Given the description of an element on the screen output the (x, y) to click on. 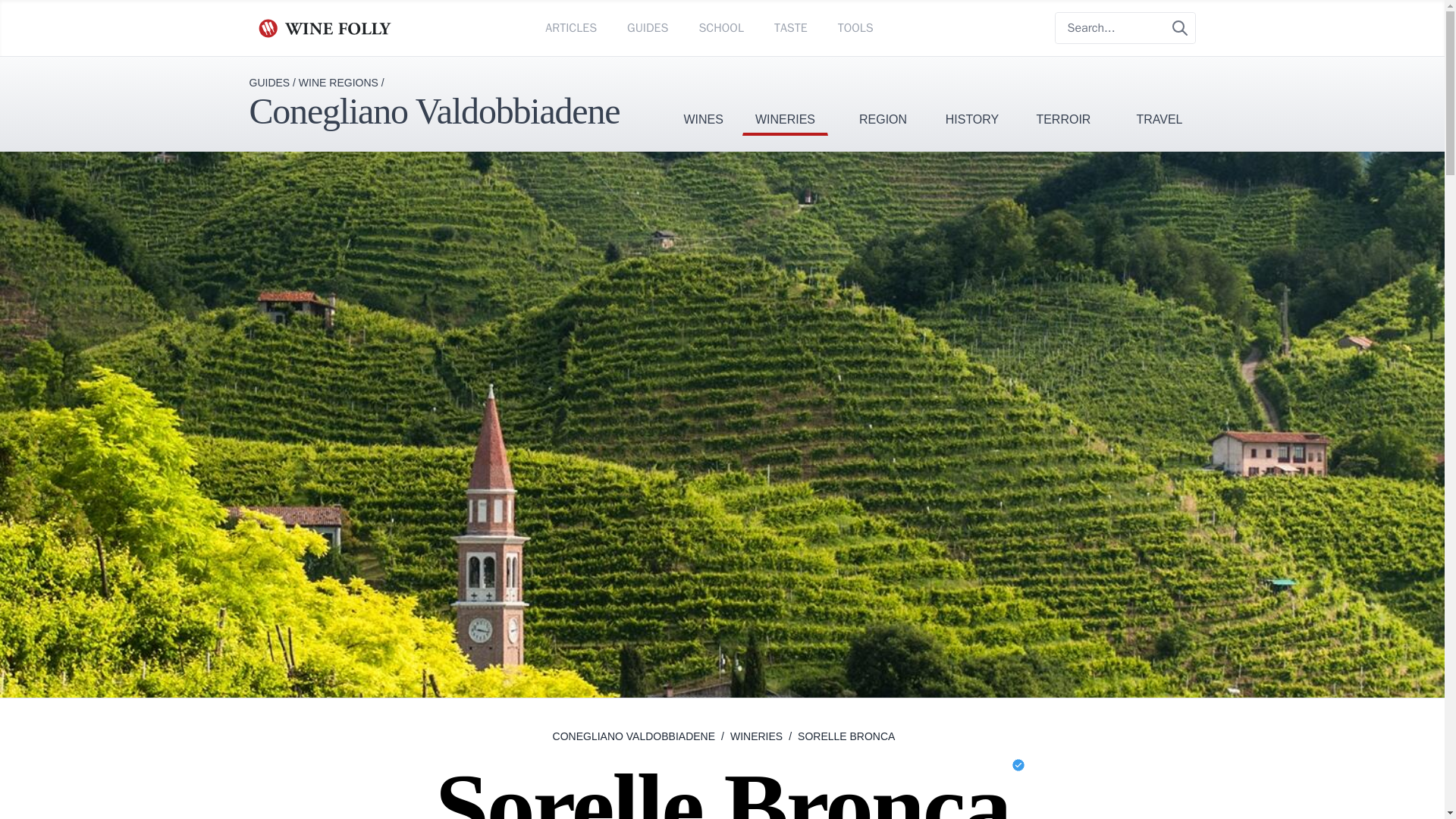
CONEGLIANO VALDOBBIADENE (633, 735)
Conegliano Valdobbiadene (434, 110)
SCHOOL (720, 27)
GUIDES (268, 82)
HISTORY (972, 95)
WINERIES (785, 95)
REGION (882, 95)
GUIDES (647, 27)
TERROIR (1063, 95)
Verified Organization (1018, 765)
TASTE (791, 27)
ARTICLES (570, 27)
TRAVEL (1158, 95)
WINE REGIONS (338, 82)
WINES (702, 95)
